Given the description of an element on the screen output the (x, y) to click on. 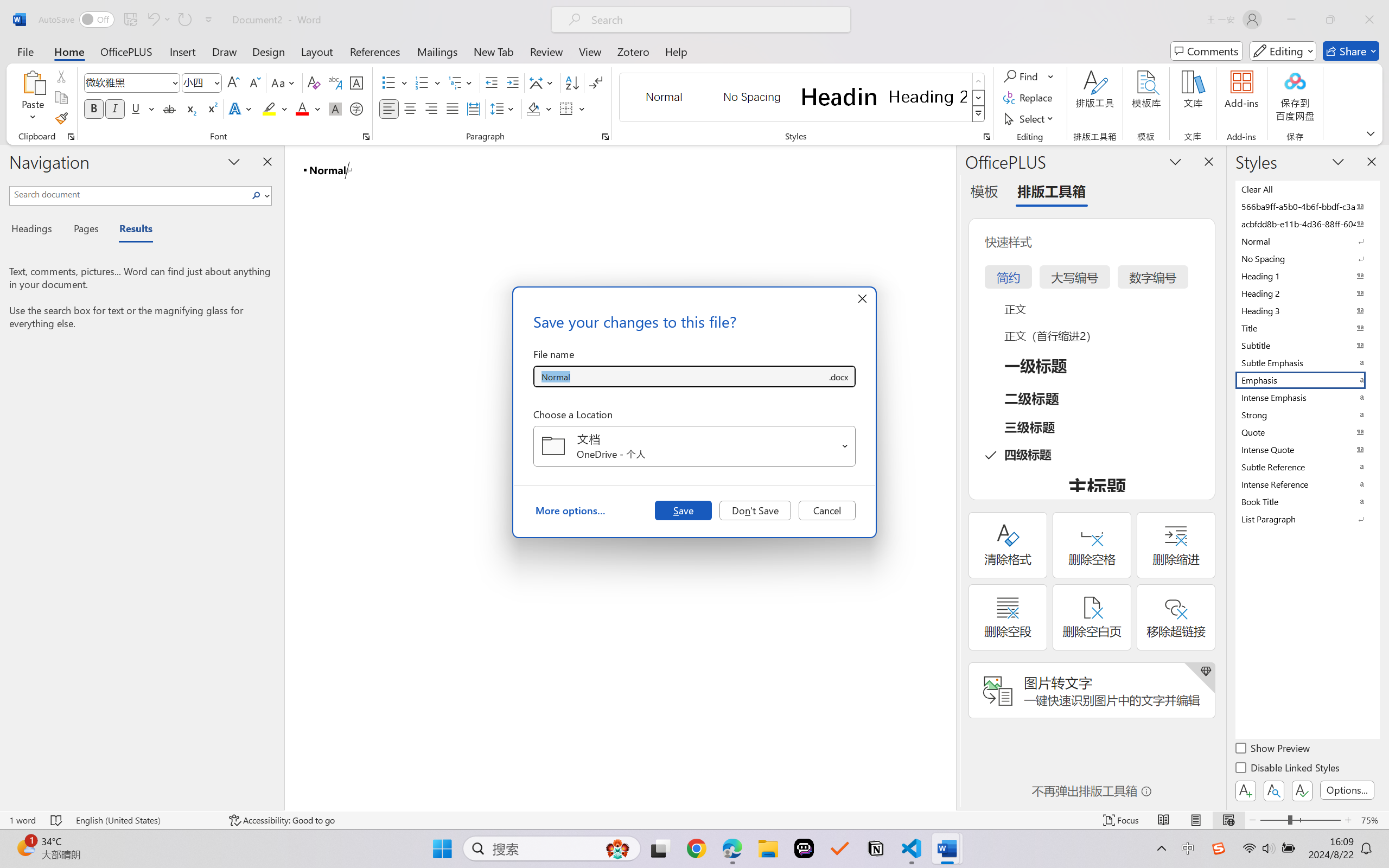
Align Left (388, 108)
Open (844, 446)
Paste (33, 81)
Intense Quote (1306, 449)
Help (675, 51)
Enclose Characters... (356, 108)
Heading 1 (839, 96)
Class: NetUIImage (978, 114)
Minimize (1291, 19)
File name (680, 376)
